Given the description of an element on the screen output the (x, y) to click on. 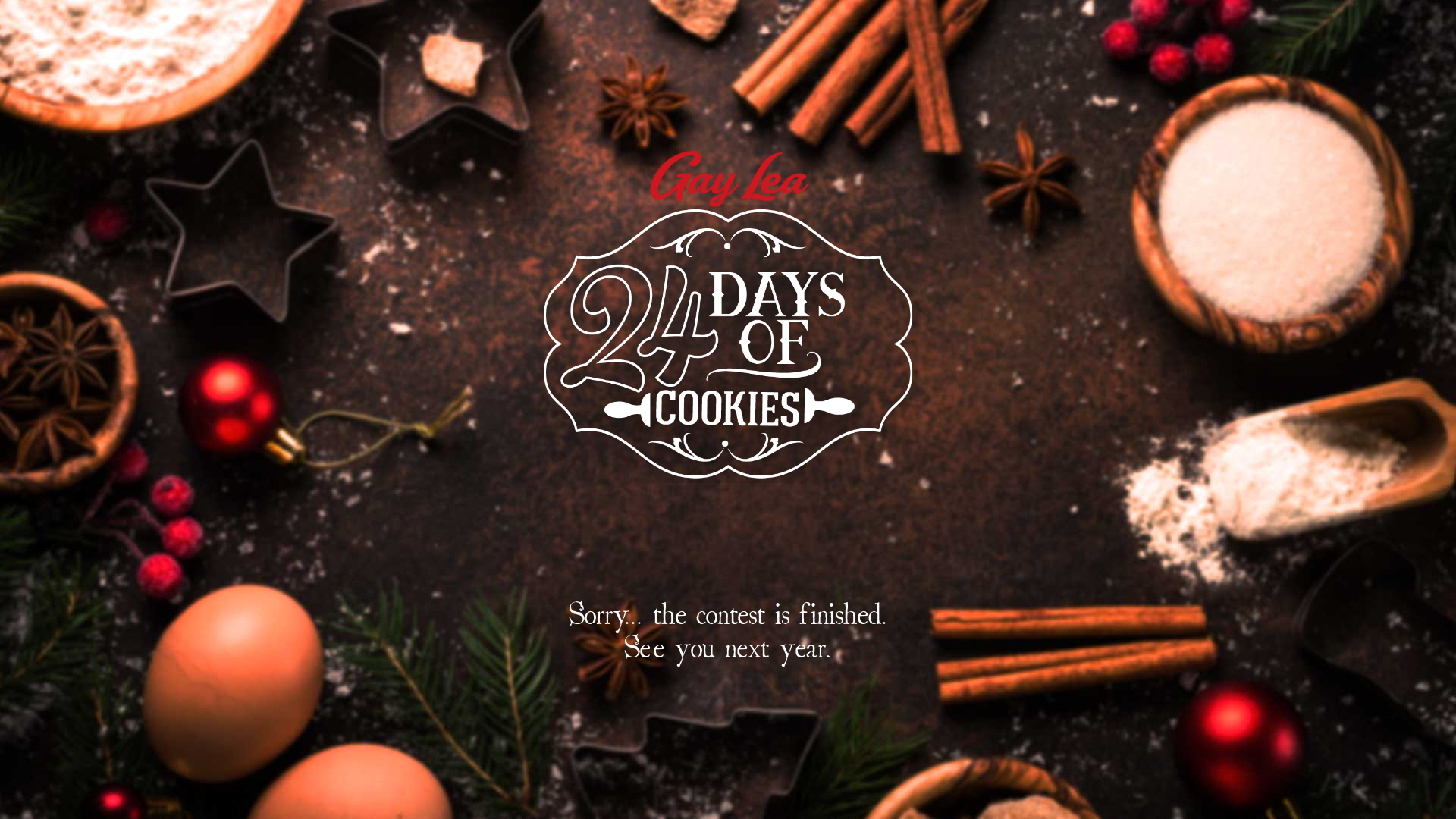
Close Element type: text (256, 155)
Next Element type: text (97, 120)
Privacy Policy Element type: text (45, 161)
FAQ Element type: text (105, 161)
Rules & Regulations Element type: text (182, 161)
